Given the description of an element on the screen output the (x, y) to click on. 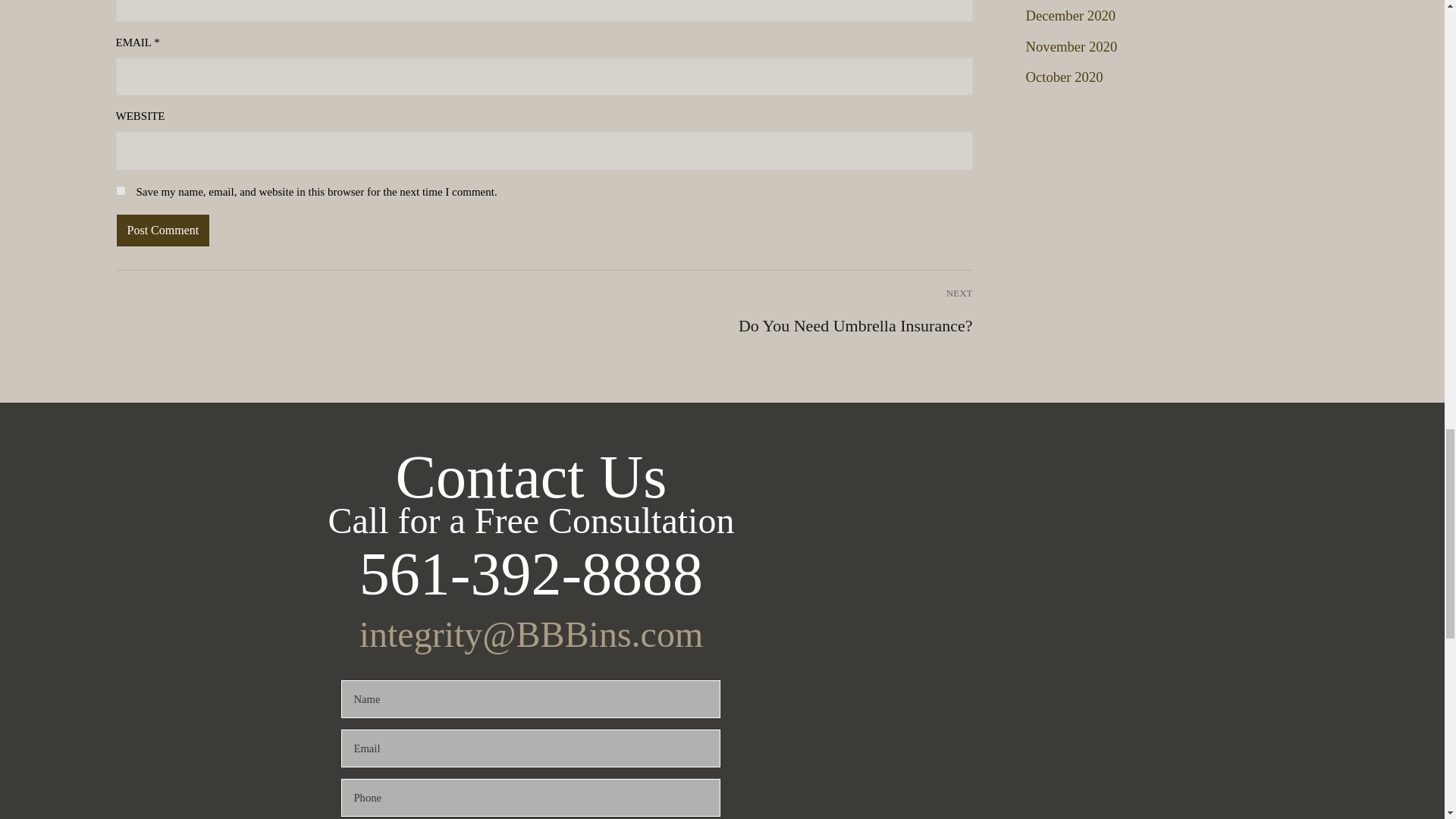
yes (120, 190)
Post Comment (162, 230)
Post Comment (162, 230)
